Given the description of an element on the screen output the (x, y) to click on. 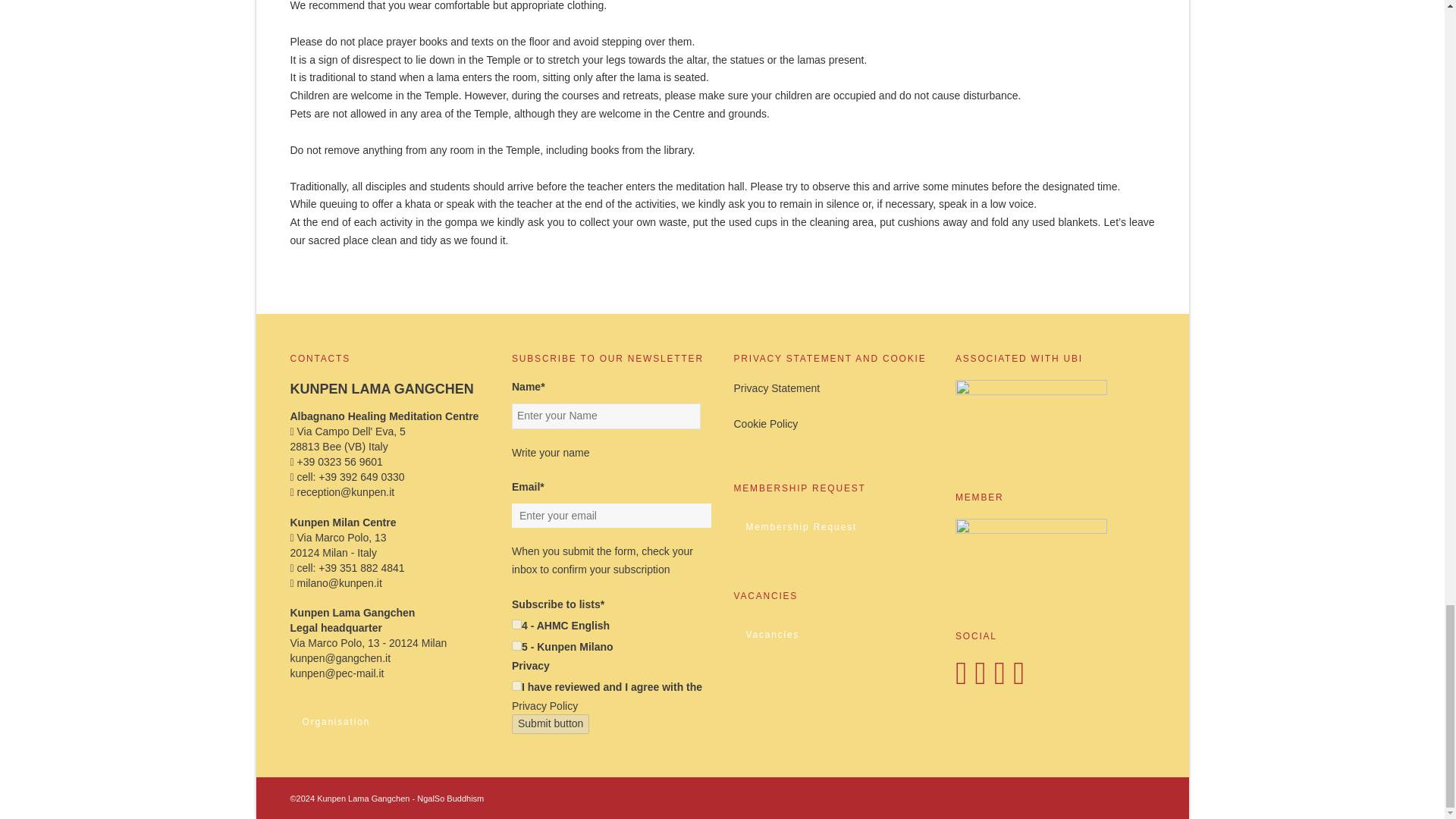
on (516, 685)
5 (516, 645)
4 (516, 624)
